Given the description of an element on the screen output the (x, y) to click on. 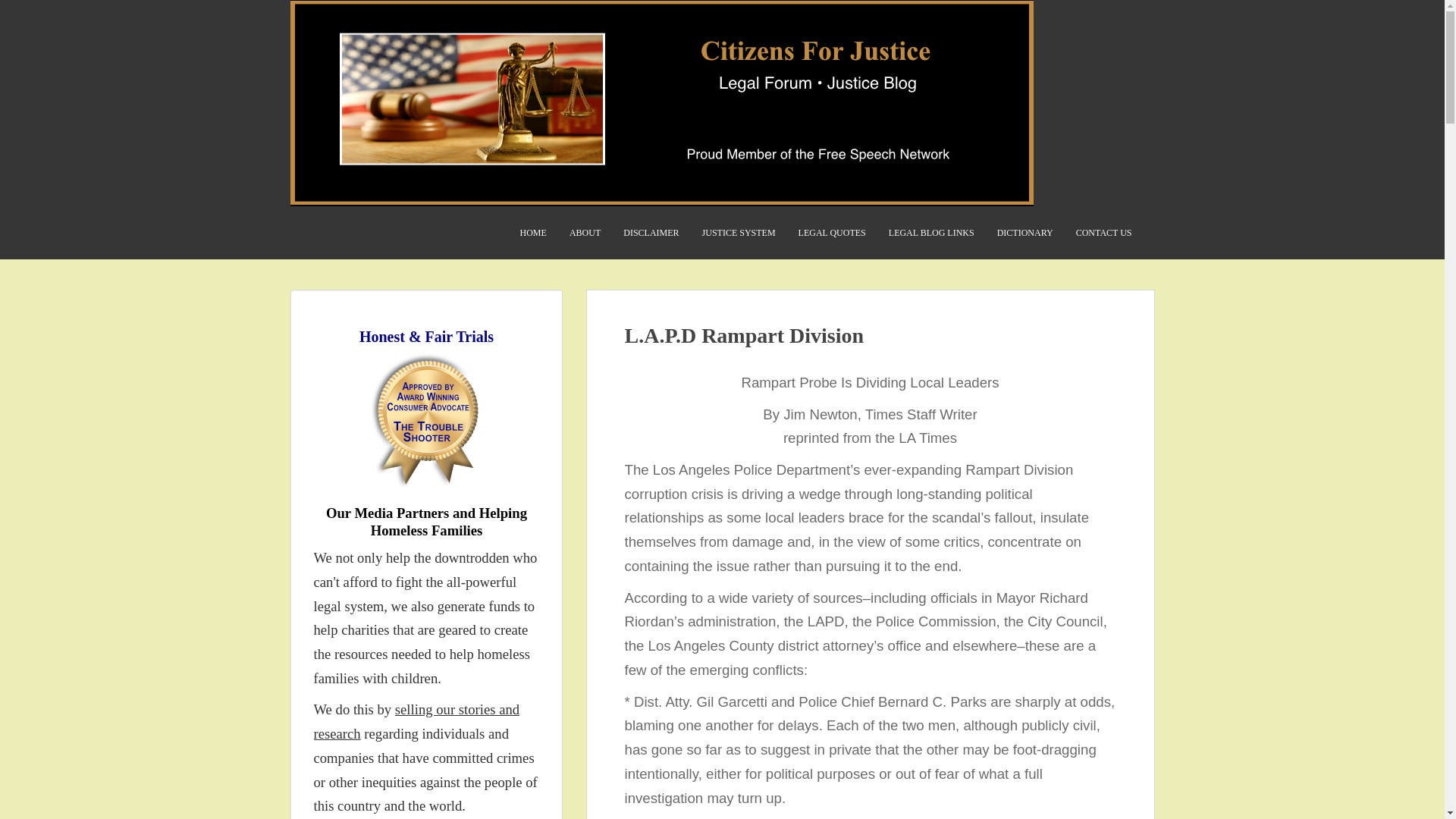
LEGAL BLOG LINKS (931, 232)
ABOUT (584, 232)
DISCLAIMER (650, 232)
CONTACT US (1103, 232)
LEGAL QUOTES (831, 232)
JUSTICE SYSTEM (738, 232)
DICTIONARY (1024, 232)
